Given the description of an element on the screen output the (x, y) to click on. 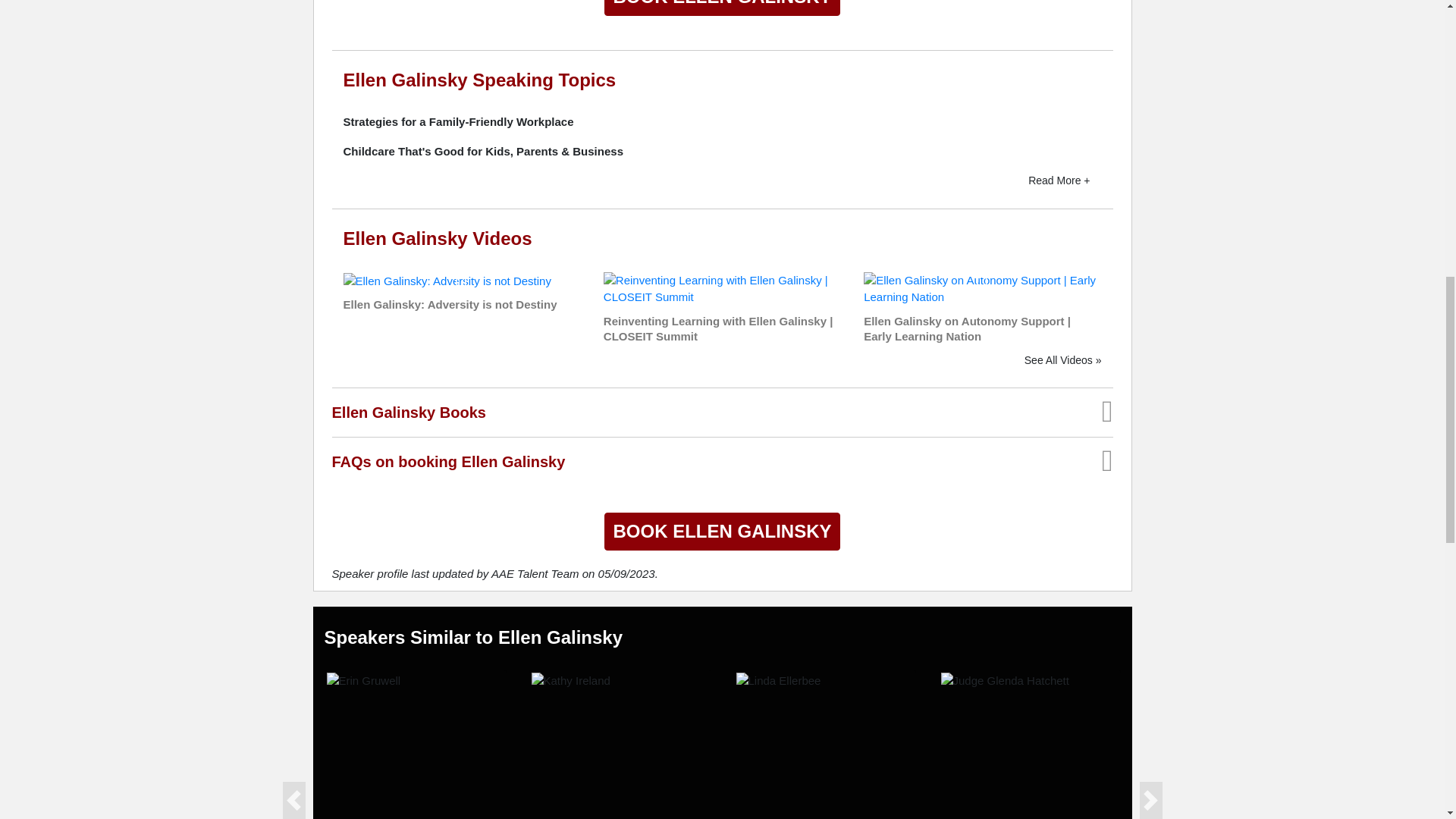
Ellen Galinsky: Adversity is not Destiny (446, 279)
Kathy Ireland (570, 681)
Linda Ellerbee (778, 681)
Erin Gruwell (363, 681)
